Given the description of an element on the screen output the (x, y) to click on. 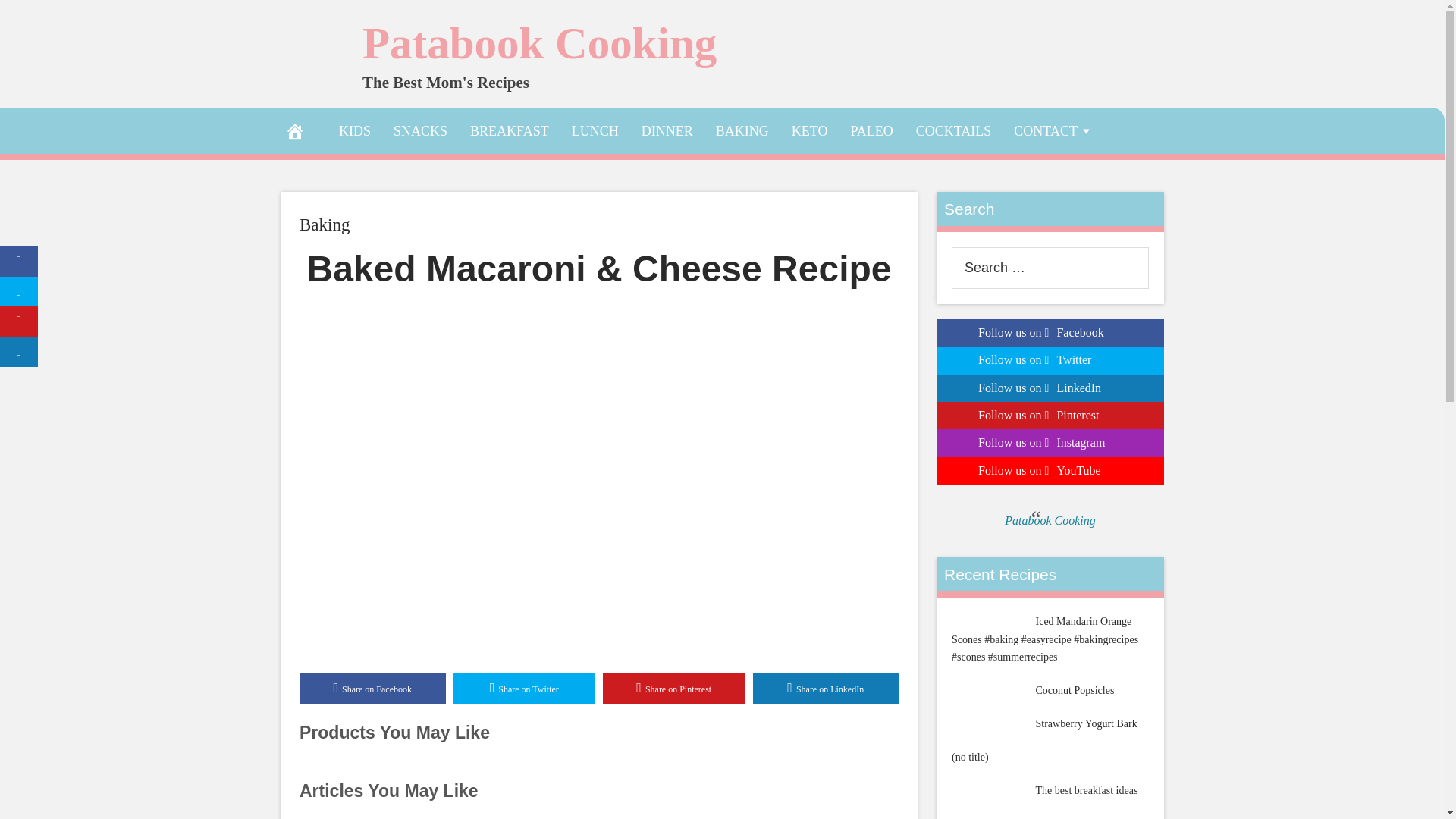
KIDS (354, 130)
COCKTAILS (953, 130)
LUNCH (595, 130)
Patabook Cooking (539, 42)
SNACKS (419, 130)
Baking (324, 224)
PALEO (871, 130)
BAKING (742, 130)
CONTACT (1054, 130)
